Given the description of an element on the screen output the (x, y) to click on. 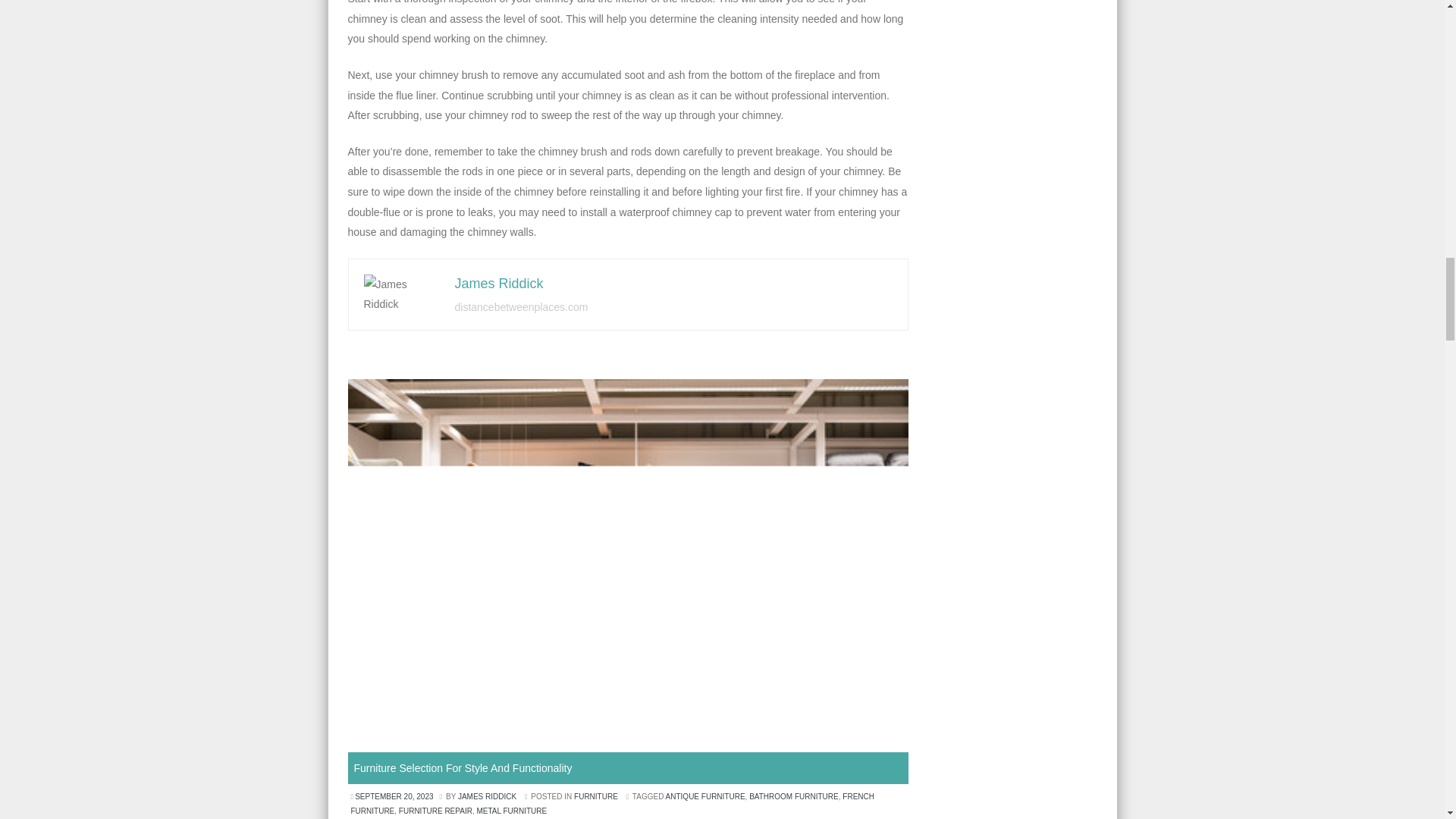
ANTIQUE FURNITURE (705, 796)
6:48 am (394, 796)
FURNITURE (595, 796)
FRENCH FURNITURE (611, 803)
METAL FURNITURE (511, 810)
Furniture Selection For Style And Functionality (462, 767)
JAMES RIDDICK (487, 796)
distancebetweenplaces.com (521, 306)
BATHROOM FURNITURE (793, 796)
FURNITURE REPAIR (434, 810)
